Given the description of an element on the screen output the (x, y) to click on. 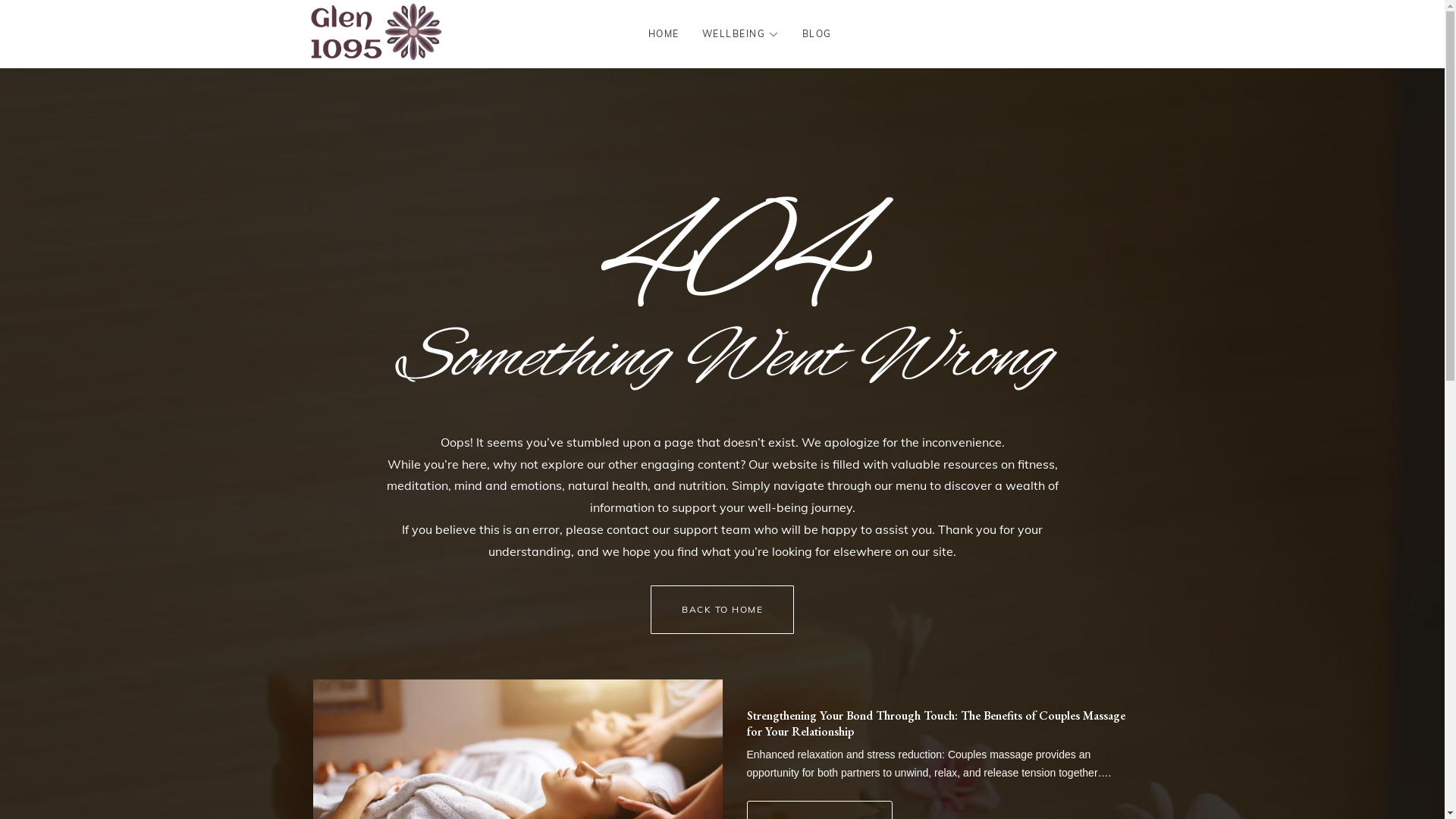
WELLBEING Element type: text (740, 34)
HOME Element type: text (663, 34)
BACK TO HOME Element type: text (721, 609)
BLOG Element type: text (816, 34)
